Given the description of an element on the screen output the (x, y) to click on. 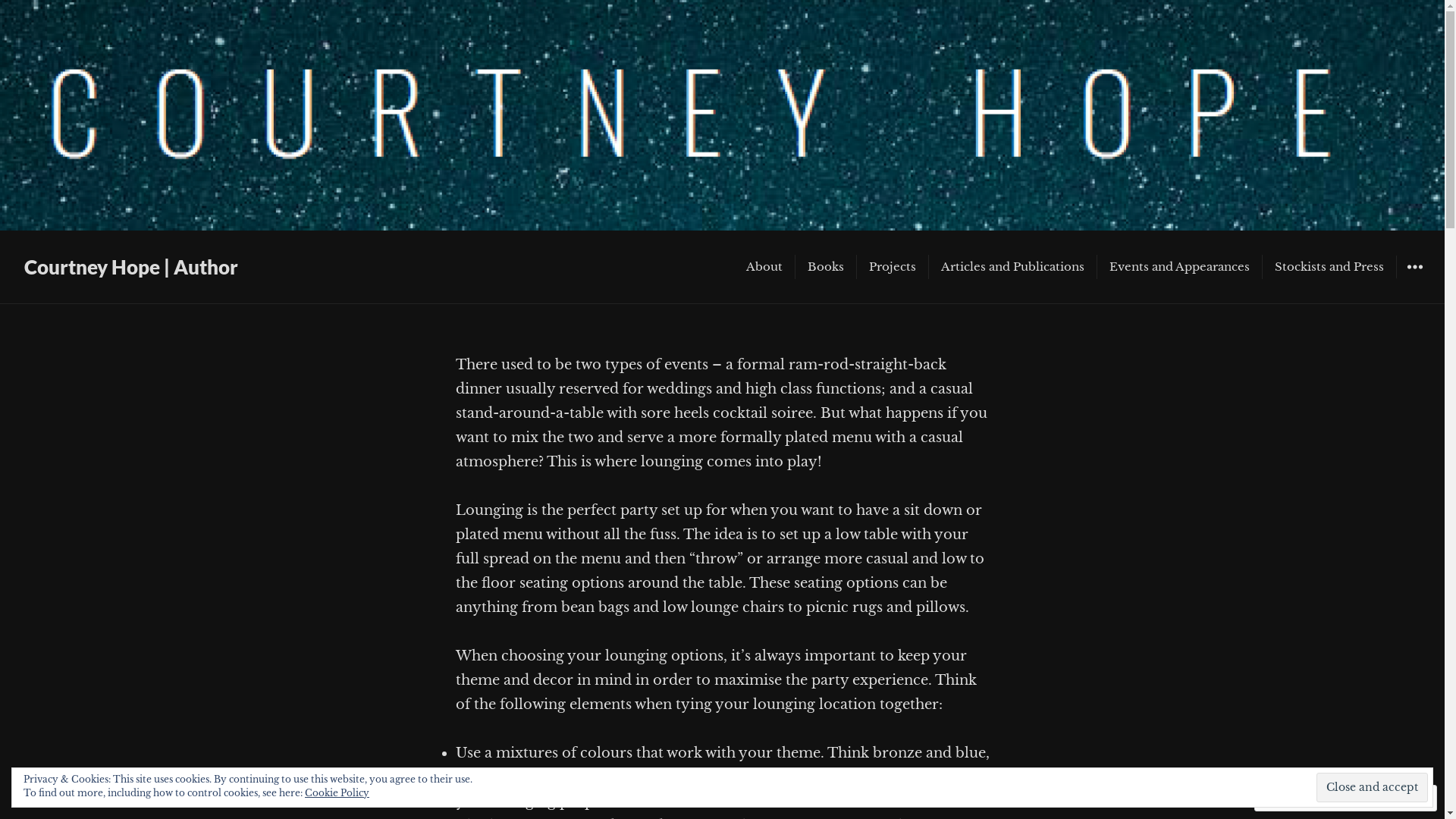
About Element type: text (764, 266)
Cookie Policy Element type: text (336, 792)
Close and accept Element type: text (1371, 787)
Follow Element type: text (1372, 797)
Stockists and Press Element type: text (1329, 266)
Articles and Publications Element type: text (1012, 266)
Projects Element type: text (892, 266)
Events and Appearances Element type: text (1179, 266)
Books Element type: text (825, 266)
Comment Element type: text (1296, 797)
Courtney Hope | Author Element type: text (131, 266)
